Given the description of an element on the screen output the (x, y) to click on. 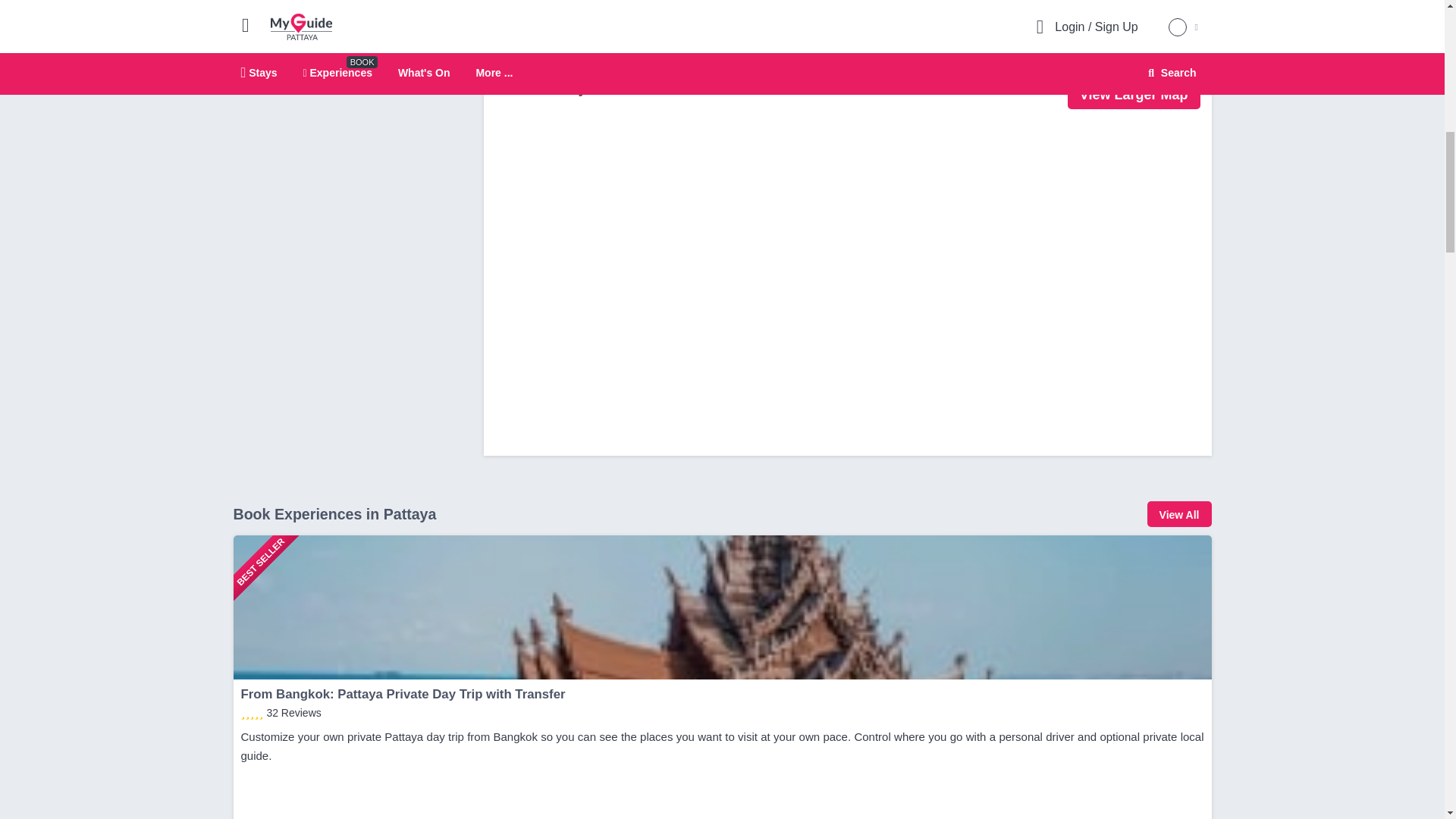
Larger Map for Company: Amin Tandoori Pattaya (1133, 93)
